Given the description of an element on the screen output the (x, y) to click on. 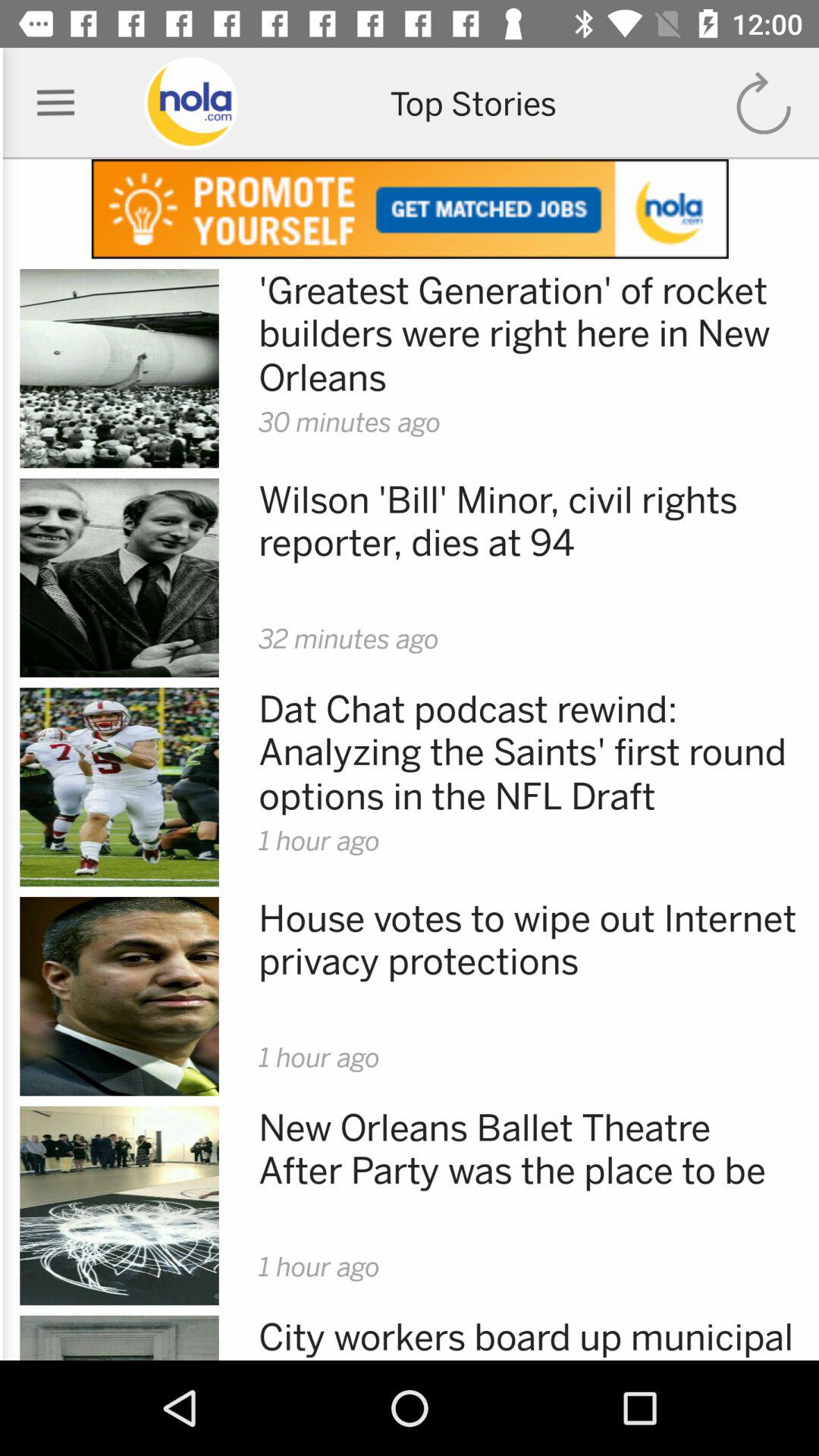
menu option (55, 103)
